Given the description of an element on the screen output the (x, y) to click on. 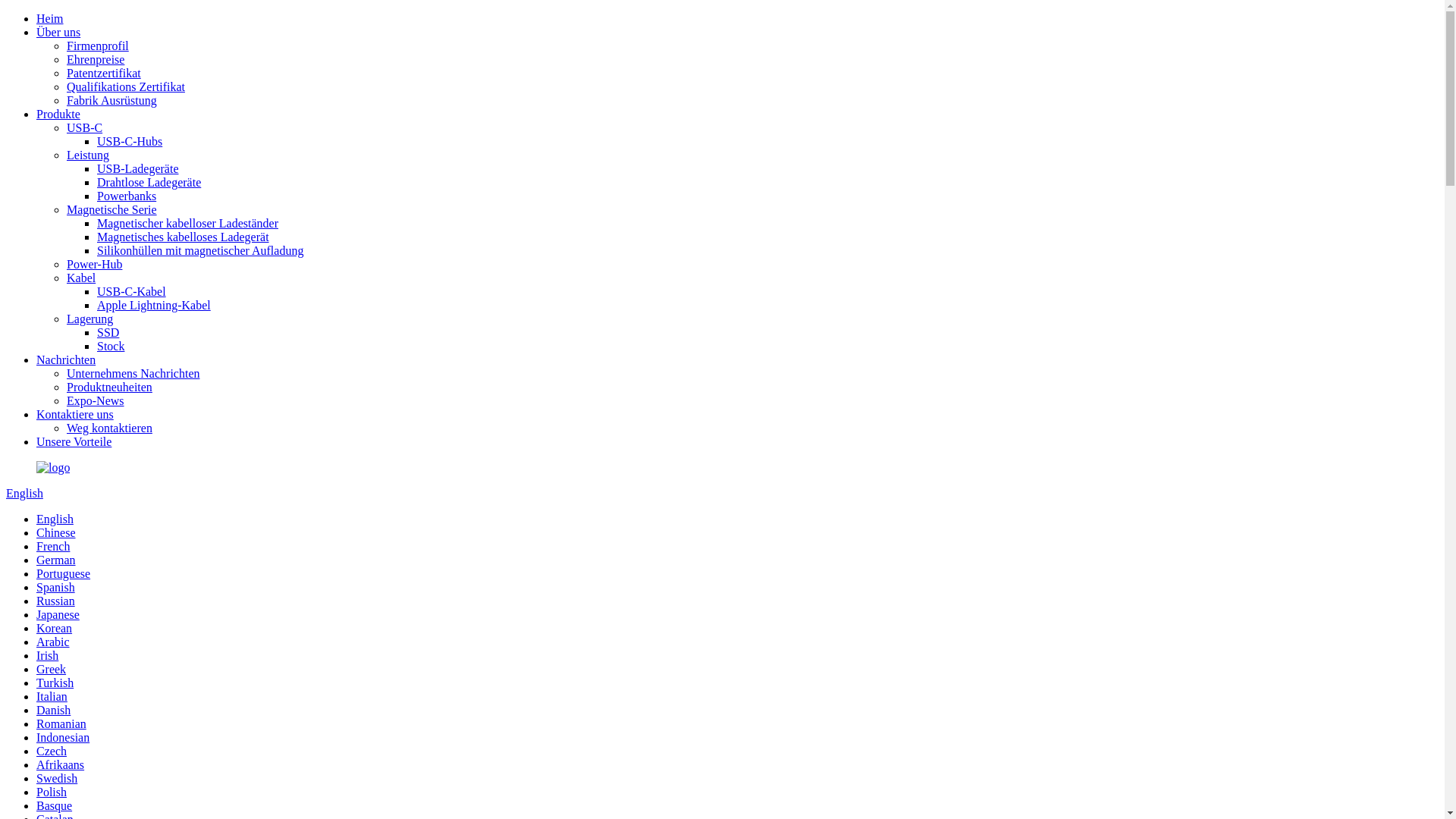
Powerbanks Element type: text (126, 195)
SSD Element type: text (108, 332)
Italian Element type: text (51, 696)
Leistung Element type: text (87, 154)
Portuguese Element type: text (63, 573)
Spanish Element type: text (55, 586)
Unternehmens Nachrichten Element type: text (132, 373)
Produkte Element type: text (58, 113)
Turkish Element type: text (54, 682)
Arabic Element type: text (52, 641)
Magnetische Serie Element type: text (111, 209)
Japanese Element type: text (57, 614)
Weg kontaktieren Element type: text (109, 427)
Firmenprofil Element type: text (97, 45)
Russian Element type: text (55, 600)
Basque Element type: text (54, 805)
USB-C-Kabel Element type: text (131, 291)
Expo-News Element type: text (95, 400)
Romanian Element type: text (61, 723)
Kabel Element type: text (80, 277)
Nachrichten Element type: text (65, 359)
English Element type: text (24, 492)
Unsere Vorteile Element type: text (73, 441)
USB-C Element type: text (84, 127)
Danish Element type: text (53, 709)
Heim Element type: text (49, 18)
Patentzertifikat Element type: text (103, 72)
English Element type: text (54, 518)
Polish Element type: text (51, 791)
German Element type: text (55, 559)
Produktneuheiten Element type: text (109, 386)
Korean Element type: text (54, 627)
Ehrenpreise Element type: text (95, 59)
Qualifikations Zertifikat Element type: text (125, 86)
Lagerung Element type: text (89, 318)
Afrikaans Element type: text (60, 764)
USB-C-Hubs Element type: text (129, 140)
Indonesian Element type: text (62, 737)
Apple Lightning-Kabel Element type: text (153, 304)
Stock Element type: text (110, 345)
Czech Element type: text (51, 750)
Power-Hub Element type: text (94, 263)
Irish Element type: text (47, 655)
Swedish Element type: text (56, 777)
French Element type: text (52, 545)
Chinese Element type: text (55, 532)
Kontaktiere uns Element type: text (74, 413)
Greek Element type: text (50, 668)
